Given the description of an element on the screen output the (x, y) to click on. 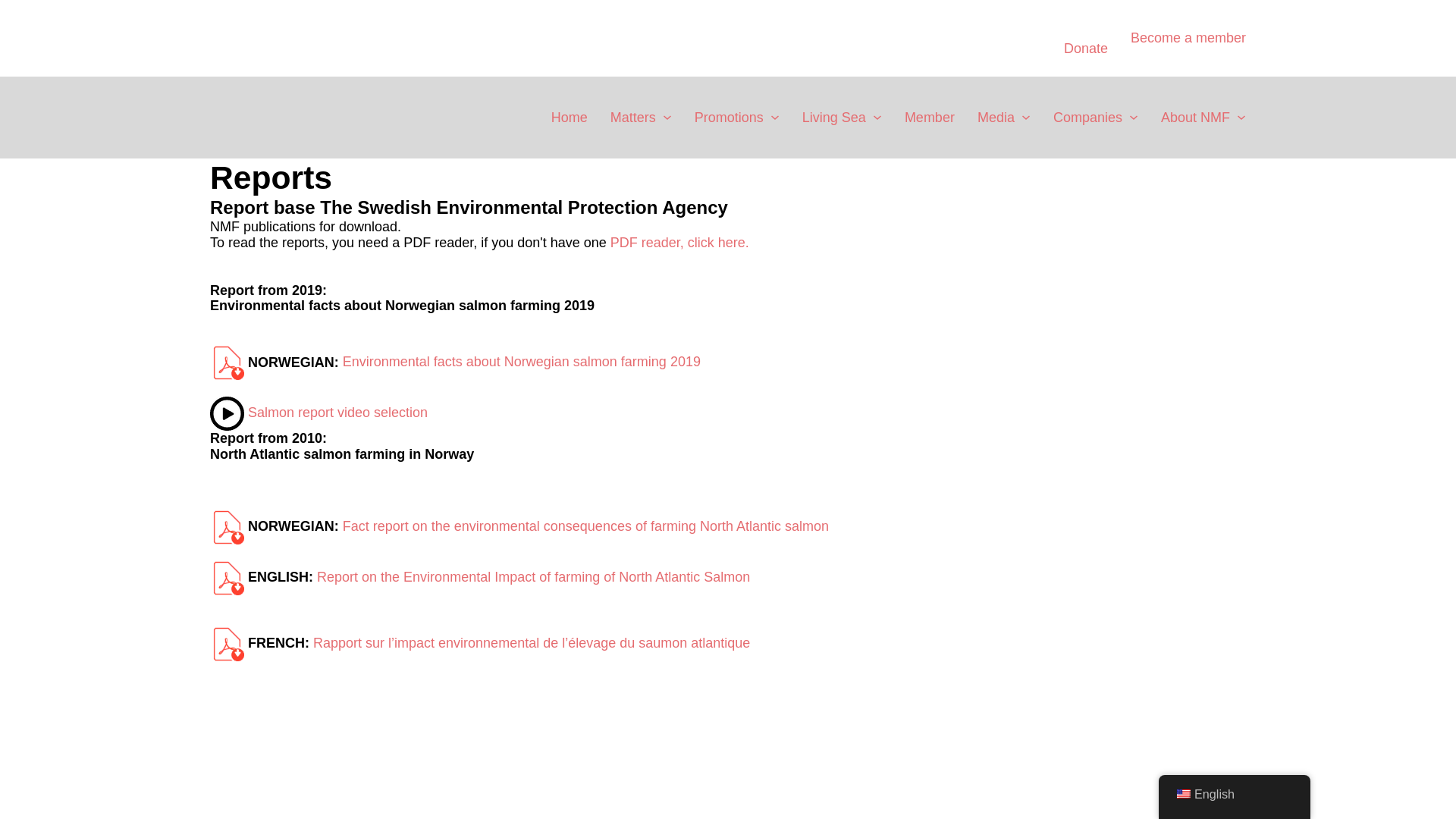
Promotions (728, 117)
Home (569, 117)
Living Sea (834, 117)
English (1183, 793)
Matters (633, 117)
Become a member (1188, 38)
Member (929, 117)
Media (995, 117)
Donate (1086, 48)
